Given the description of an element on the screen output the (x, y) to click on. 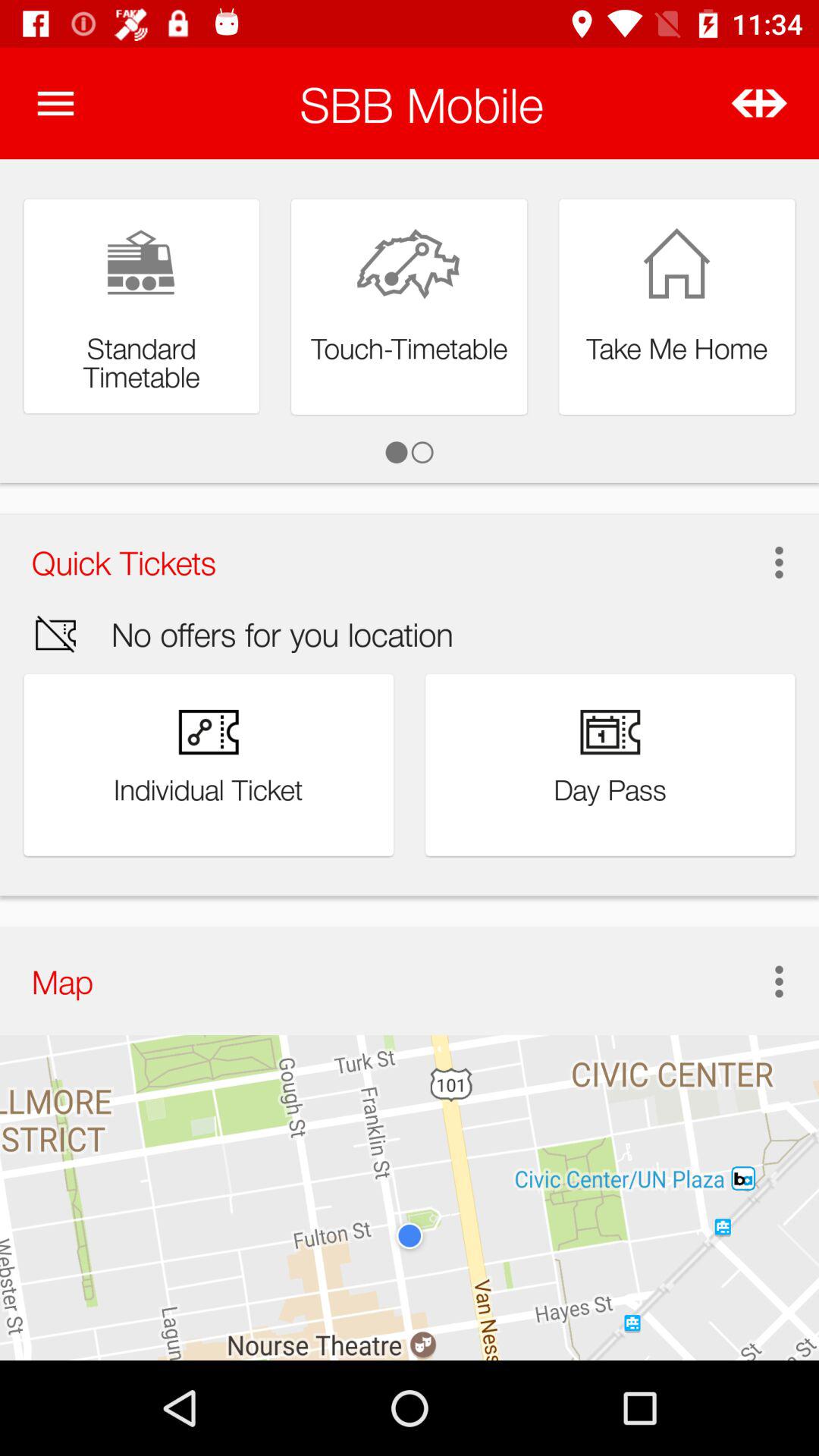
press item to the right of quick tickets item (773, 562)
